Given the description of an element on the screen output the (x, y) to click on. 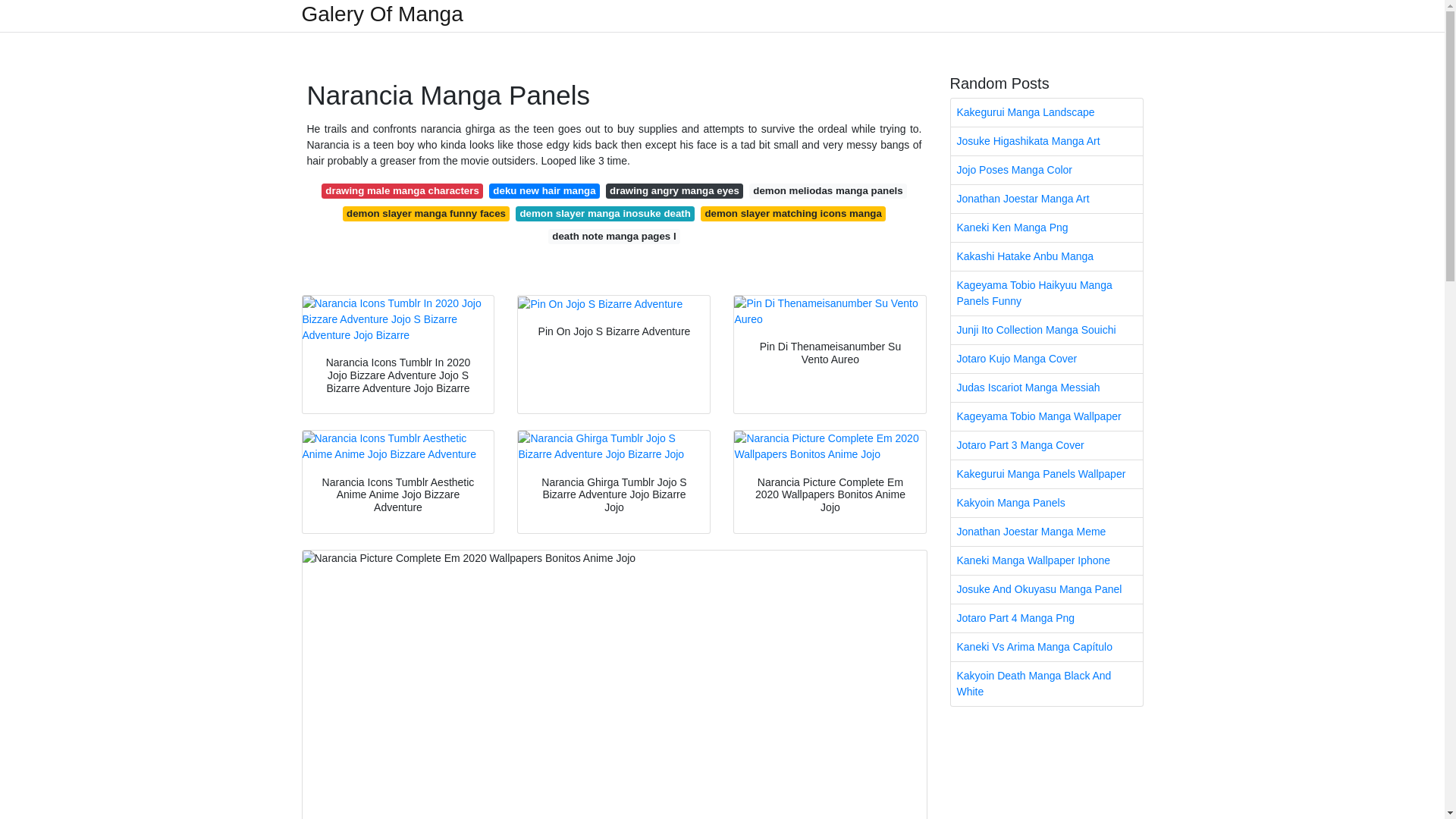
Jotaro Kujo Manga Cover (1046, 358)
Kakegurui Manga Landscape (1046, 112)
Jonathan Joestar Manga Art (1046, 198)
Galery Of Manga (382, 13)
deku new hair manga (544, 191)
demon slayer matching icons manga (792, 213)
drawing male manga characters (402, 191)
drawing angry manga eyes (673, 191)
Jojo Poses Manga Color (1046, 170)
Junji Ito Collection Manga Souichi (1046, 329)
